Given the description of an element on the screen output the (x, y) to click on. 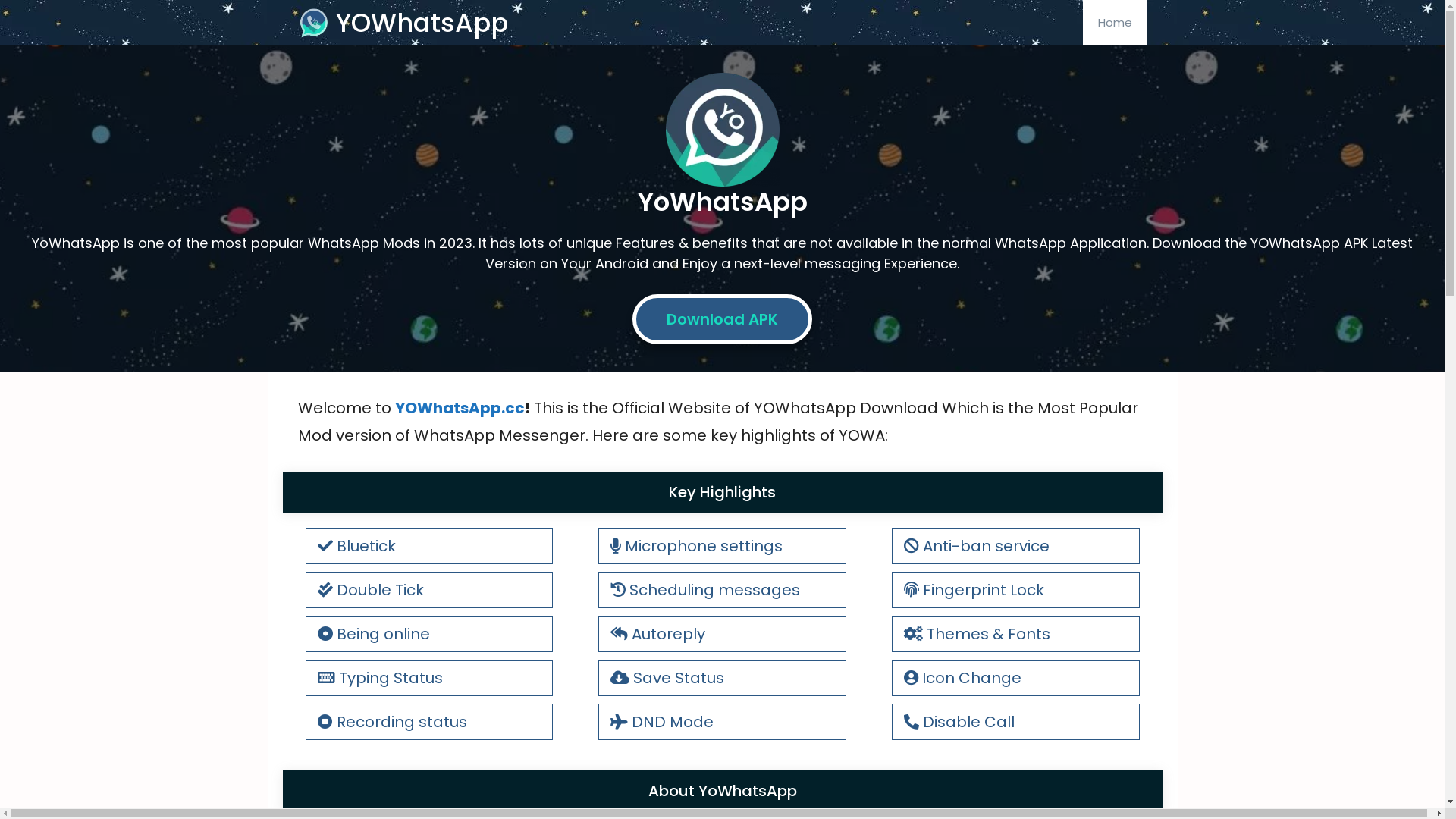
YOWhatsApp Element type: hover (312, 22)
YOWhatsApp.cc Element type: text (459, 407)
Home Element type: text (1114, 22)
YOWhatsApp Element type: text (421, 22)
Download APK Element type: text (722, 319)
